Given the description of an element on the screen output the (x, y) to click on. 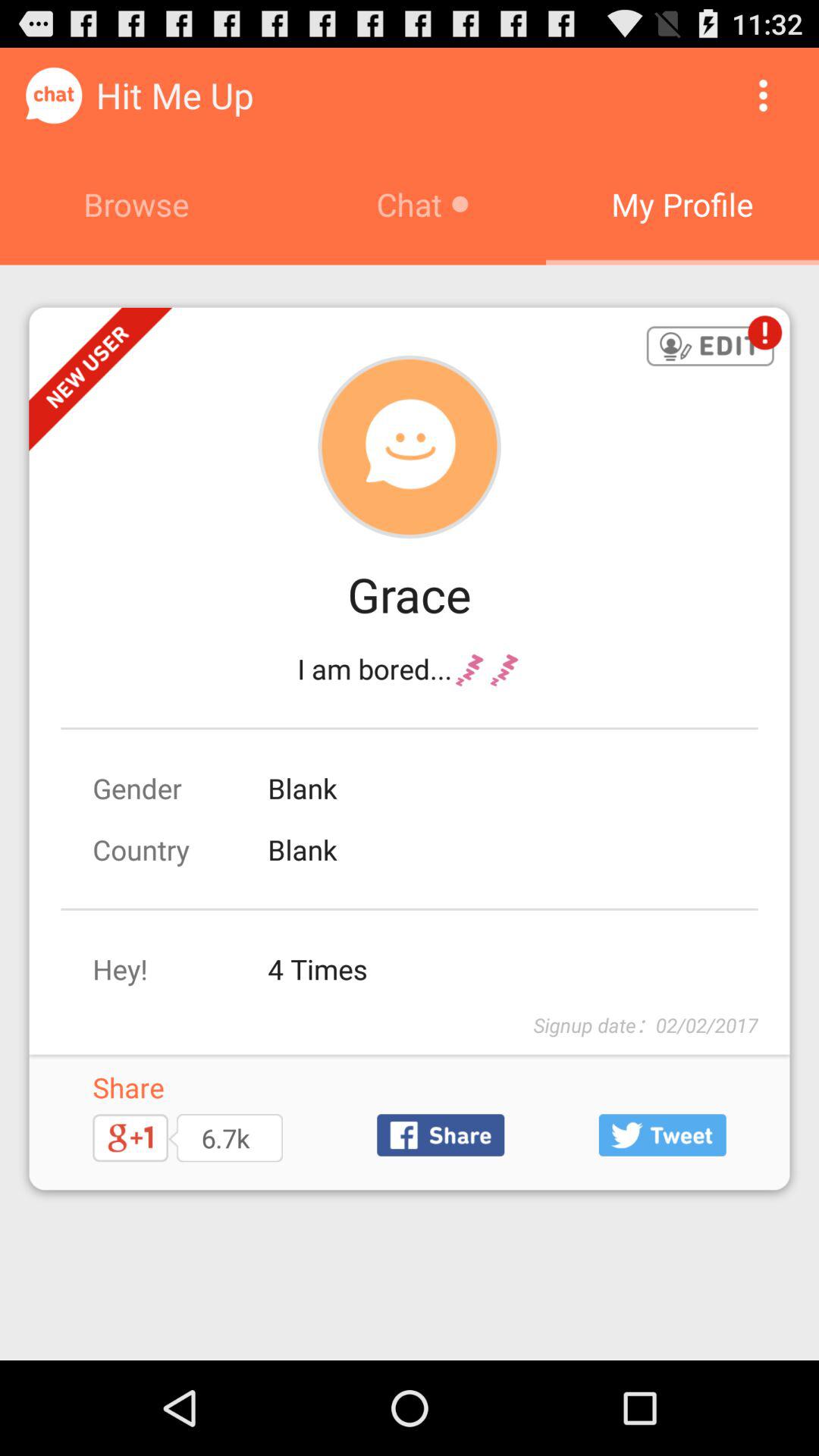
jump until the my profile (682, 204)
